Given the description of an element on the screen output the (x, y) to click on. 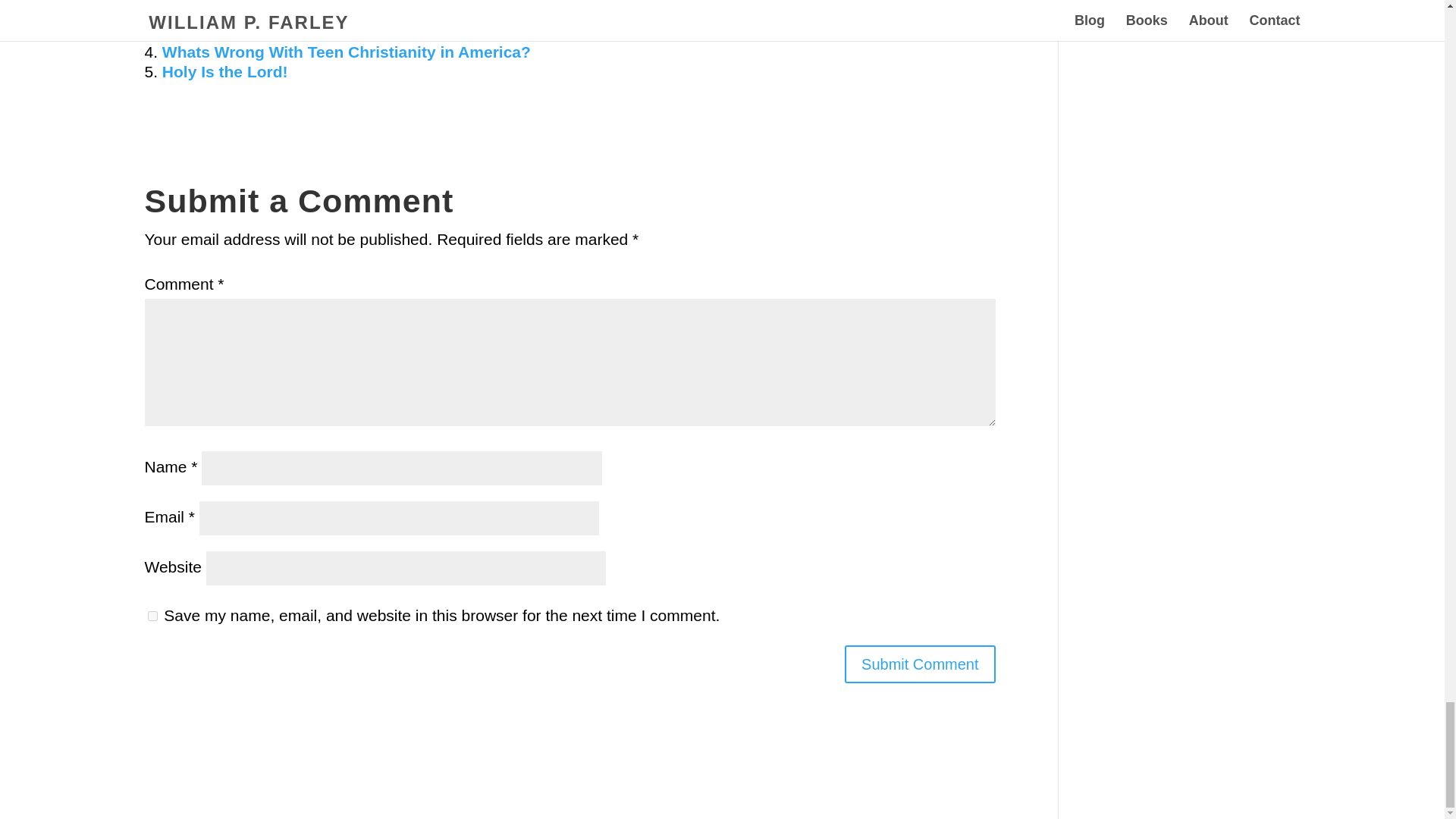
Whats Wrong With Teen Christianity in America? (346, 51)
Submit Comment (919, 664)
Whats Wrong With Teen Christianity in America? (346, 51)
Parents Are Failing to Pass the Baton of Faith (333, 31)
Holy Is the Lord! (224, 71)
Submit Comment (919, 664)
yes (152, 615)
Holy Is the Lord! (224, 71)
